Given the description of an element on the screen output the (x, y) to click on. 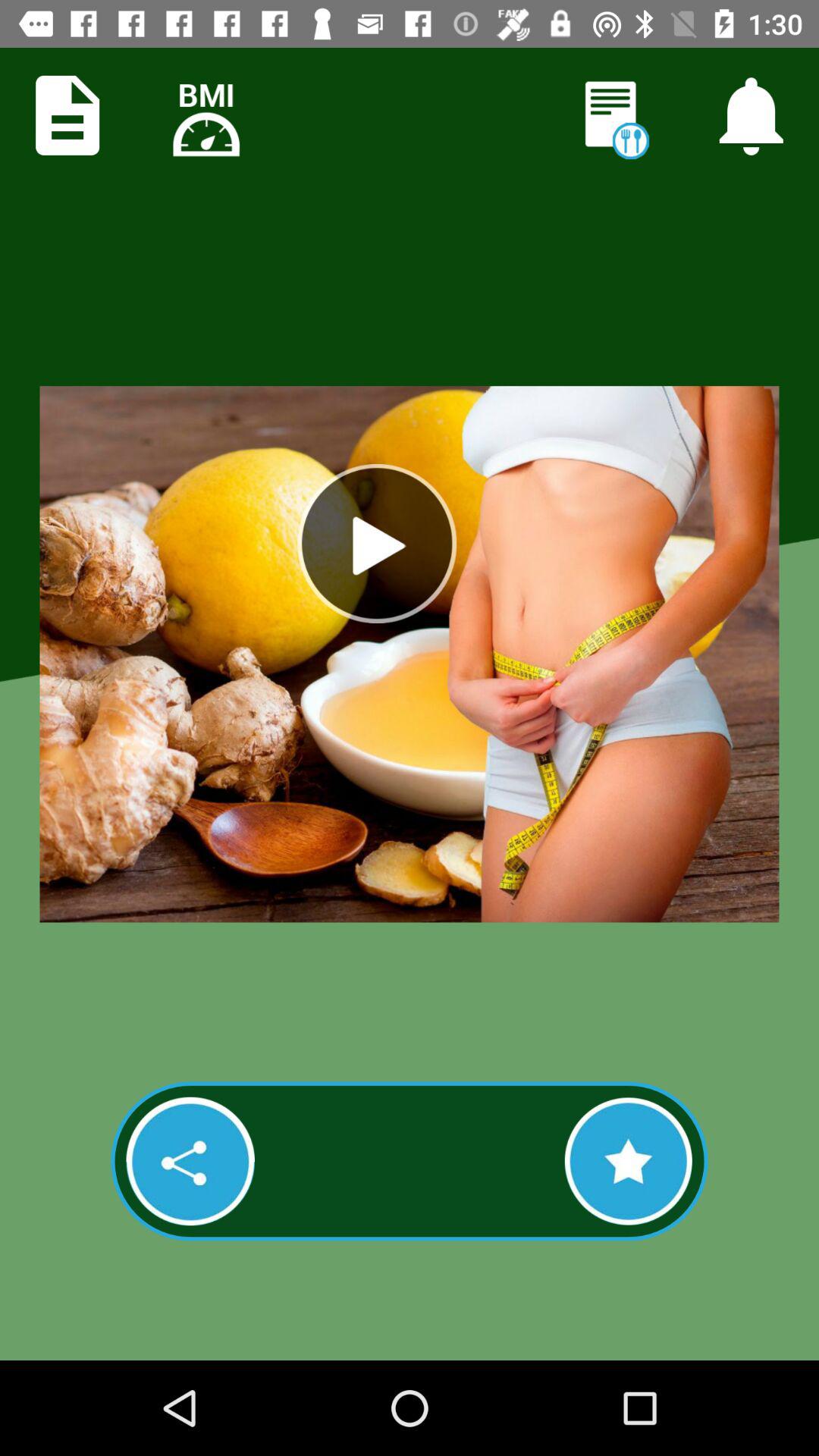
save page (67, 115)
